Given the description of an element on the screen output the (x, y) to click on. 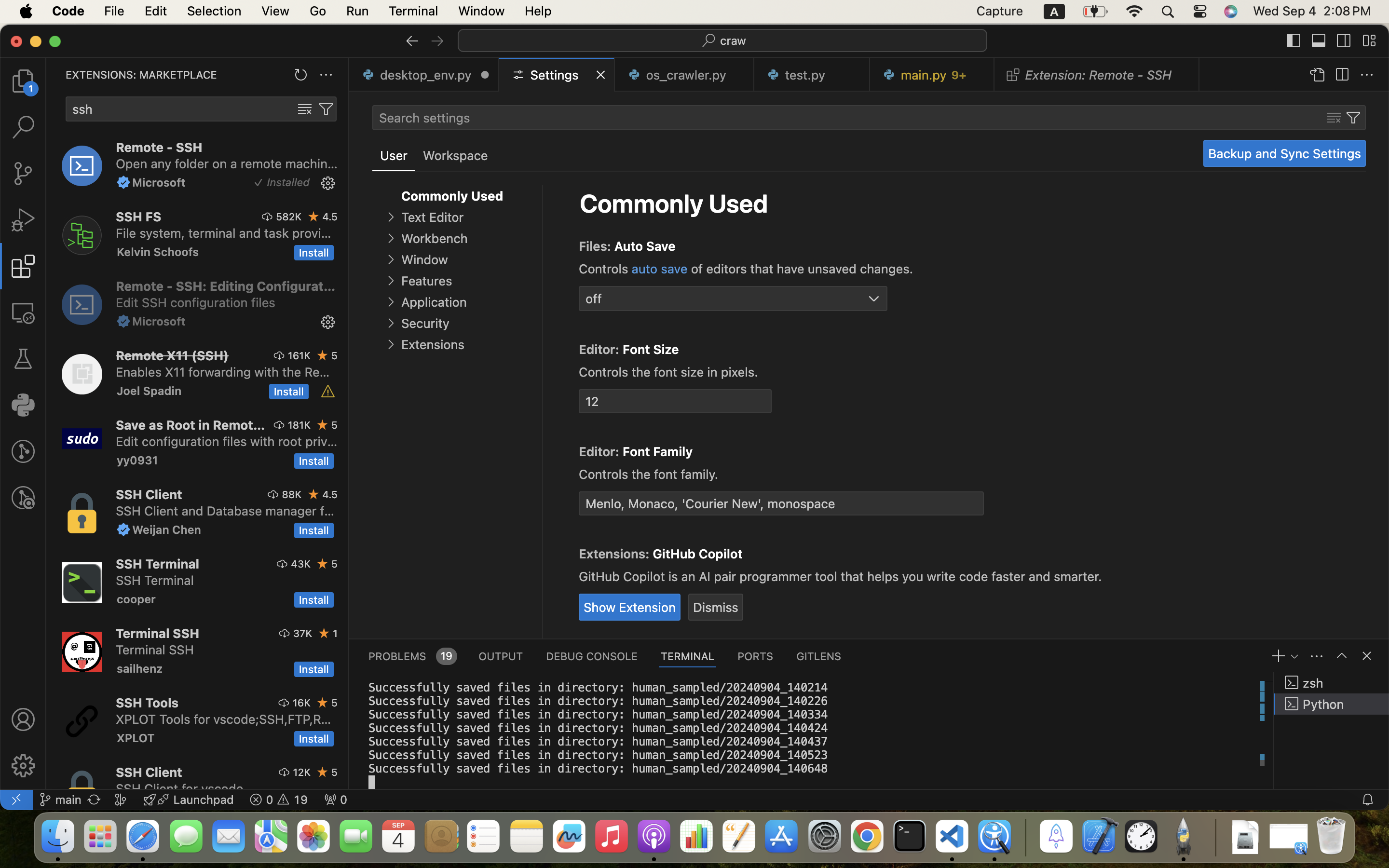
Remote X11 (SSH) Element type: AXStaticText (172, 355)
main  Element type: AXButton (59, 799)
1  Element type: AXRadioButton (23, 266)
 Element type: AXButton (1316, 74)
Font Family Element type: AXStaticText (657, 451)
